Given the description of an element on the screen output the (x, y) to click on. 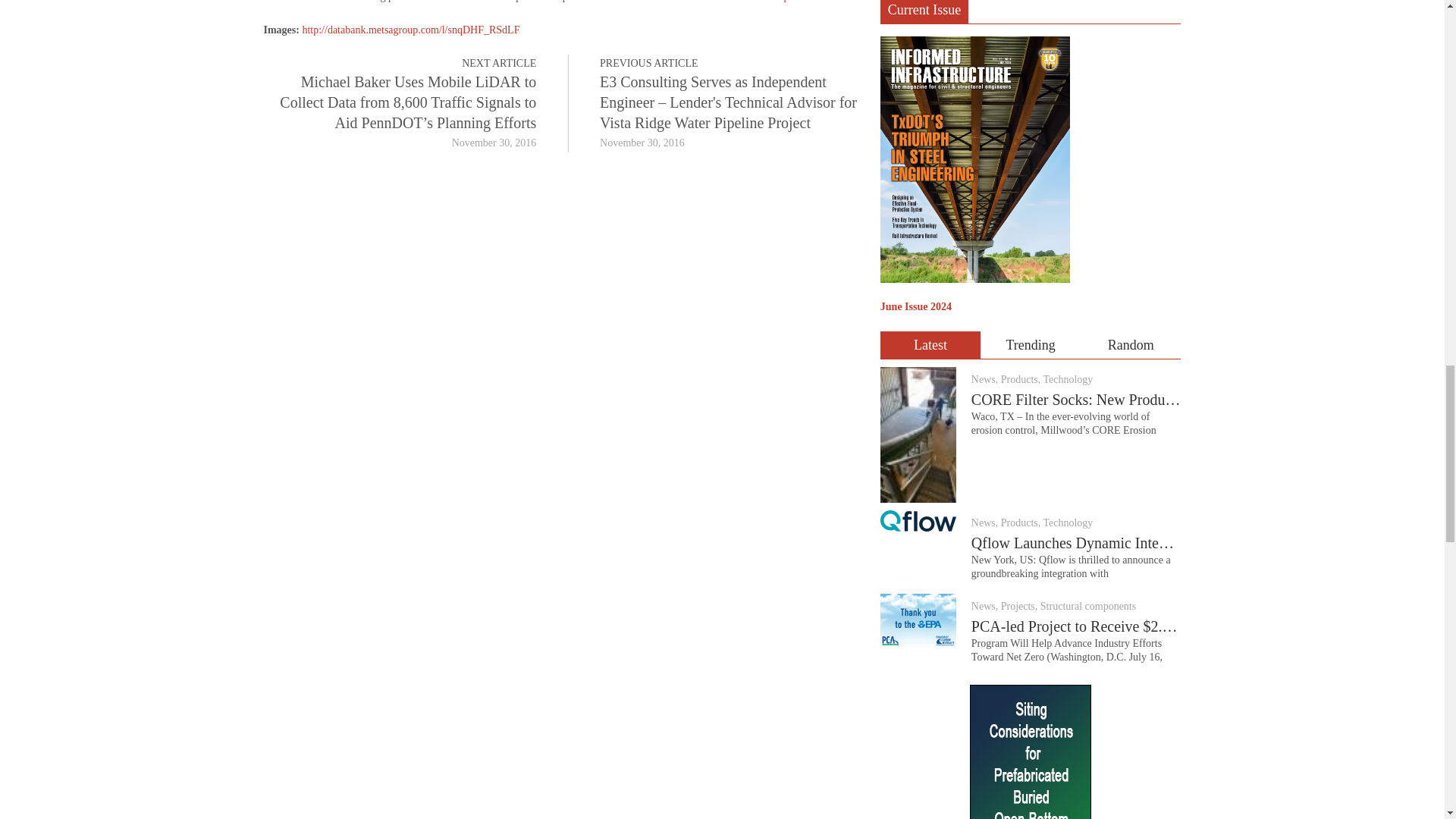
Contech PDH (1029, 751)
